Given the description of an element on the screen output the (x, y) to click on. 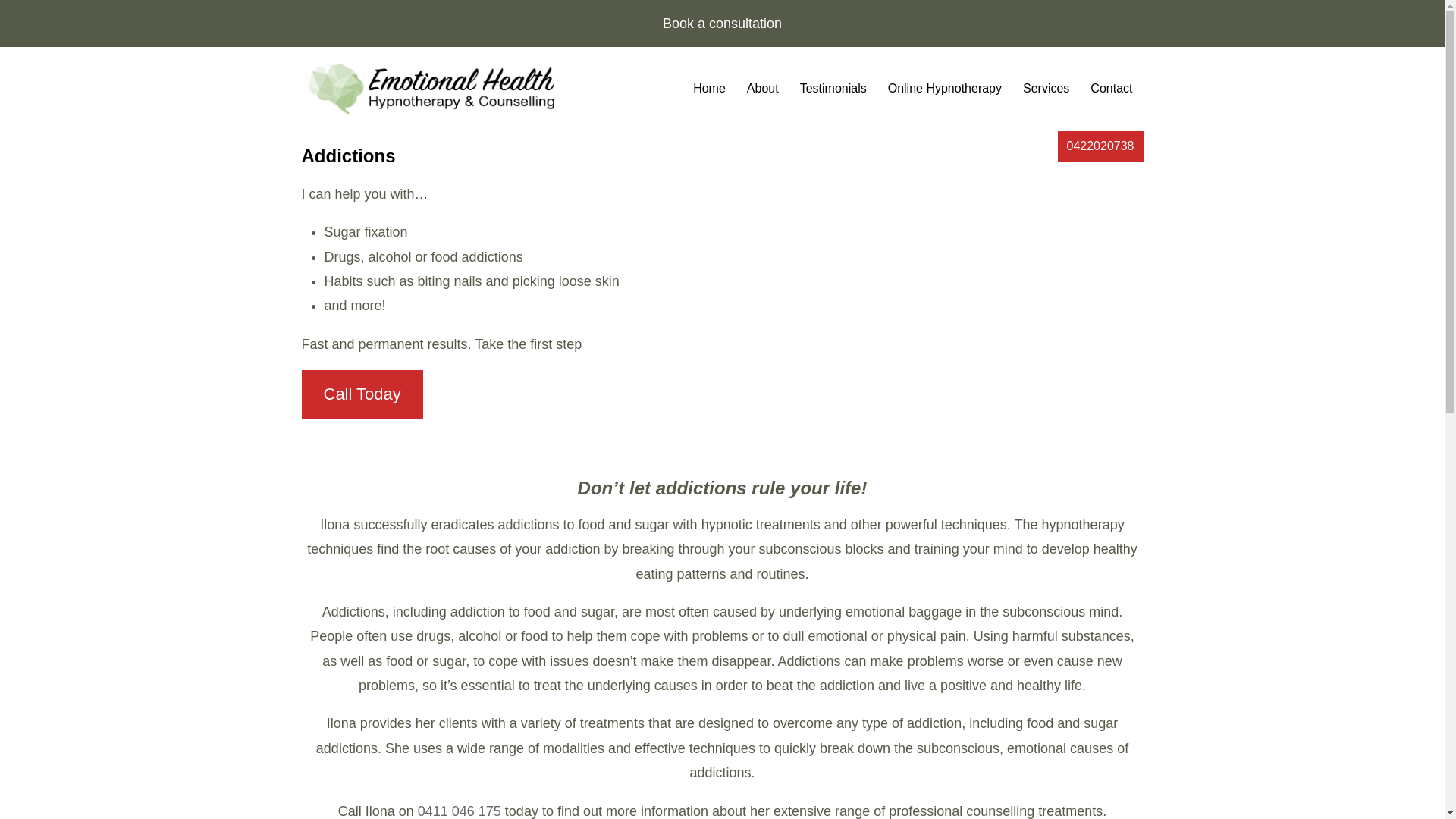
0422020738 Element type: text (1100, 146)
Services Element type: text (1045, 89)
Testimonials Element type: text (833, 89)
Home Element type: text (709, 89)
Book a consultation Element type: text (721, 23)
Online Hypnotherapy Element type: text (944, 89)
Contact Element type: text (1110, 89)
Call Today Element type: text (362, 394)
About Element type: text (762, 89)
